Given the description of an element on the screen output the (x, y) to click on. 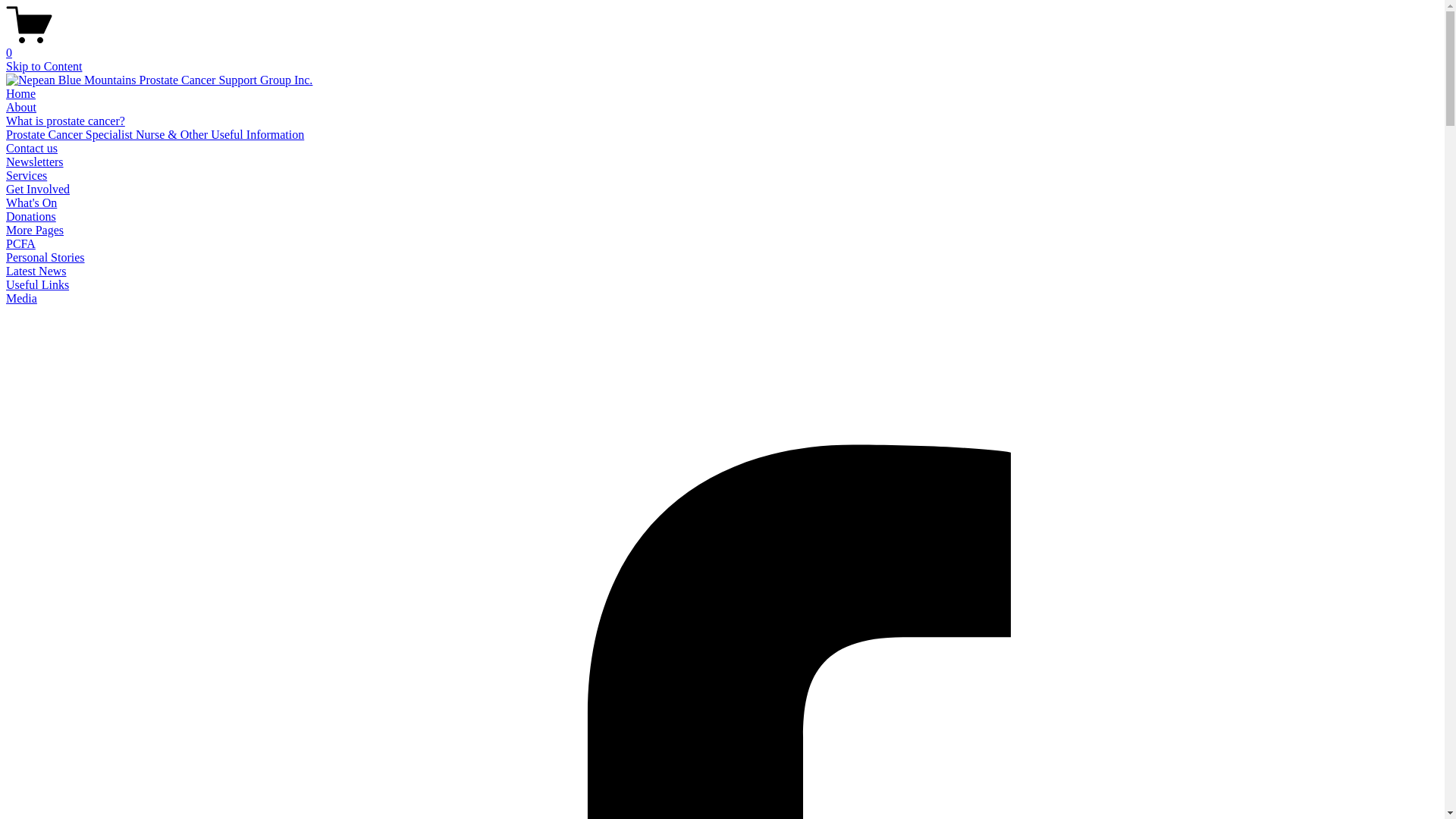
Donations Element type: text (31, 216)
Contact us Element type: text (31, 147)
Newsletters Element type: text (34, 161)
Latest News Element type: text (36, 270)
What's On Element type: text (31, 202)
Get Involved Element type: text (37, 188)
More Pages Element type: text (34, 229)
Personal Stories Element type: text (45, 257)
0 Element type: text (722, 45)
What is prostate cancer? Element type: text (65, 120)
Prostate Cancer Specialist Nurse & Other Useful Information Element type: text (155, 134)
Useful Links Element type: text (37, 284)
Home Element type: text (20, 93)
Media Element type: text (21, 297)
About Element type: text (21, 106)
Skip to Content Element type: text (43, 65)
PCFA Element type: text (20, 243)
Services Element type: text (26, 175)
